Given the description of an element on the screen output the (x, y) to click on. 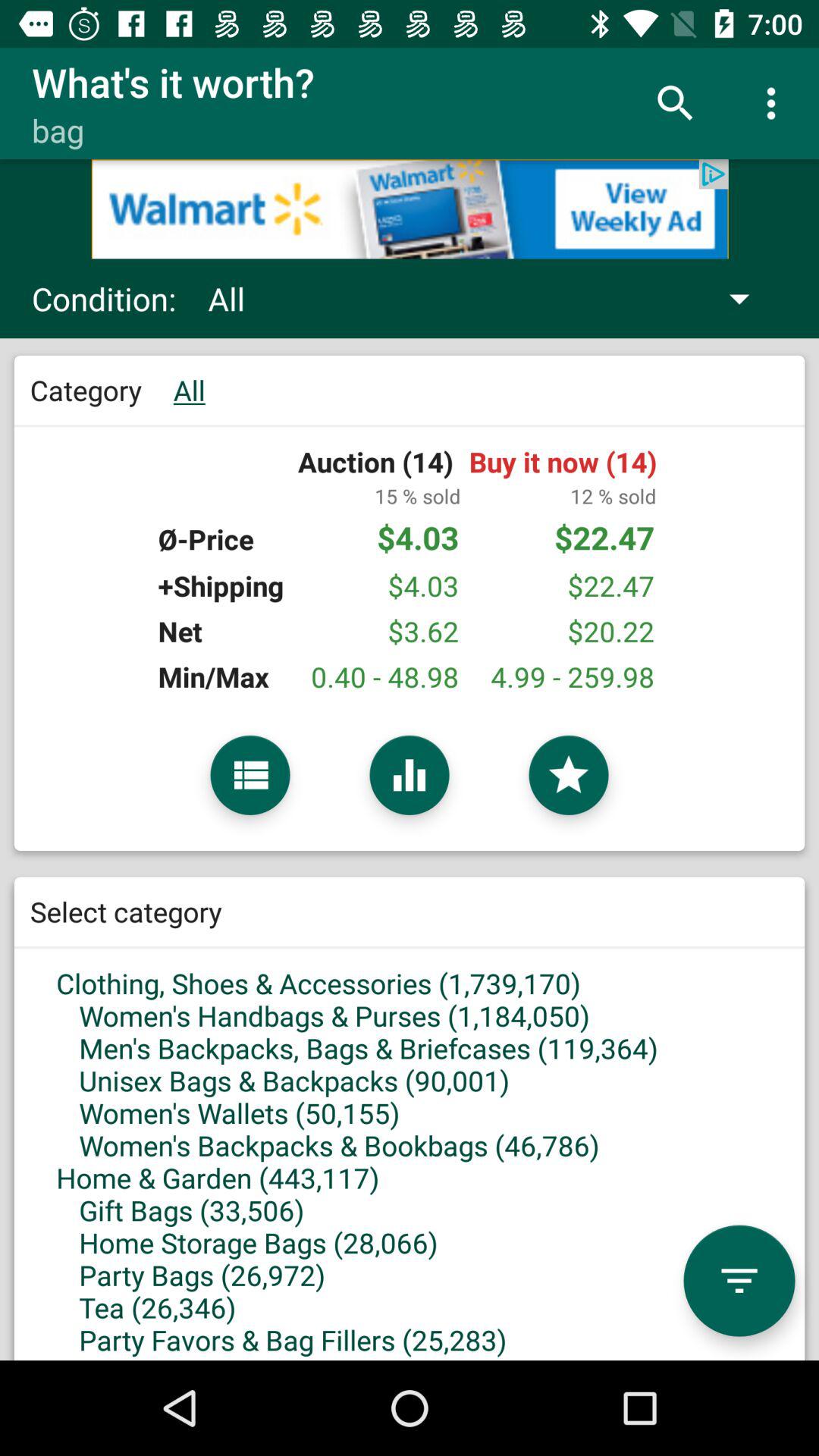
open context menu (249, 774)
